Given the description of an element on the screen output the (x, y) to click on. 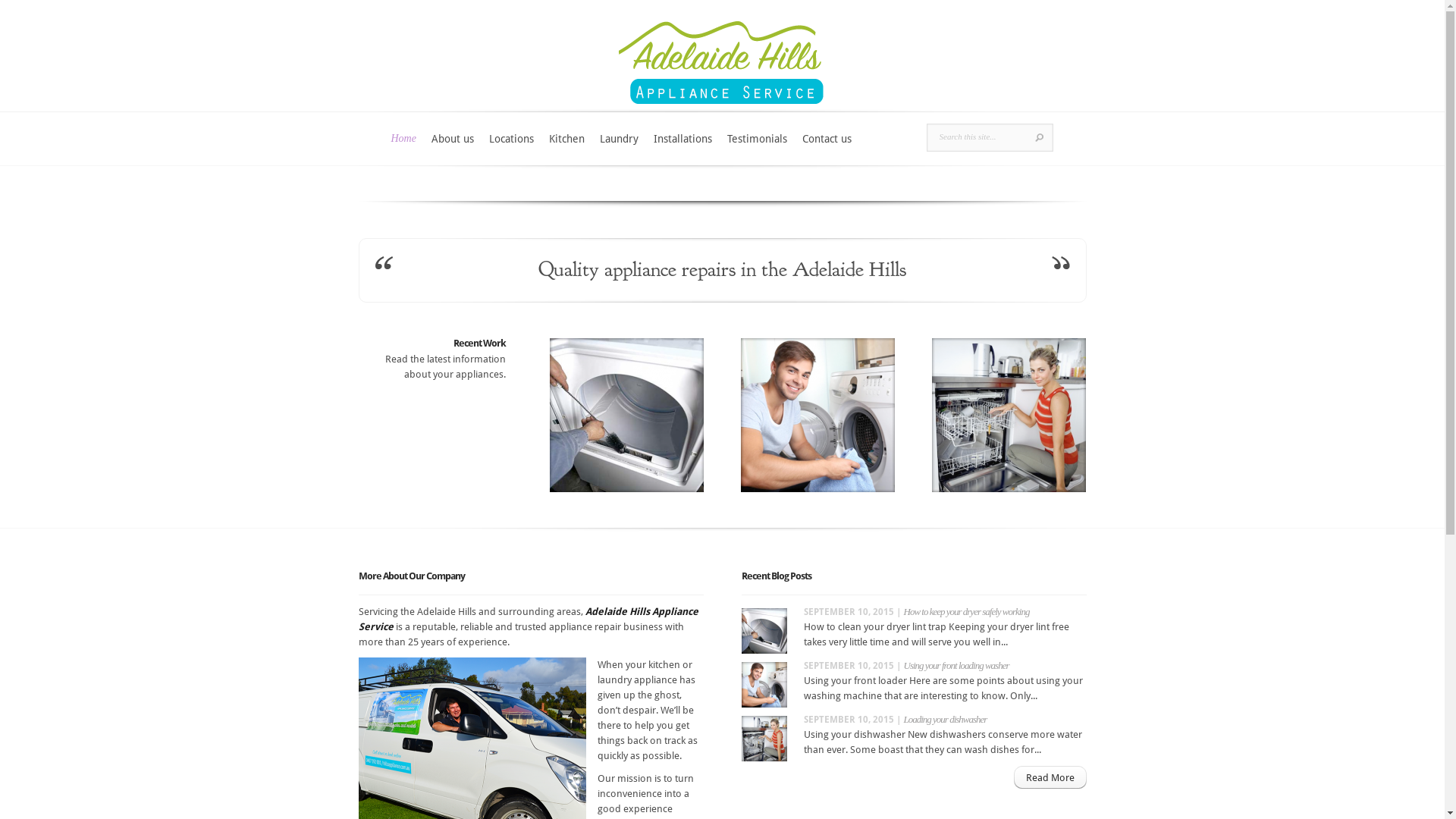
Locations Element type: text (511, 148)
Testimonials Element type: text (756, 148)
Read More Element type: text (1049, 776)
Home Element type: text (403, 148)
Laundry Element type: text (619, 148)
Installations Element type: text (682, 148)
Using your front loading washer Element type: text (956, 665)
How to keep your dryer safely working Element type: text (966, 611)
Contact us Element type: text (826, 148)
Kitchen Element type: text (566, 148)
Loading your dishwasher Element type: text (945, 718)
About us Element type: text (452, 148)
